Given the description of an element on the screen output the (x, y) to click on. 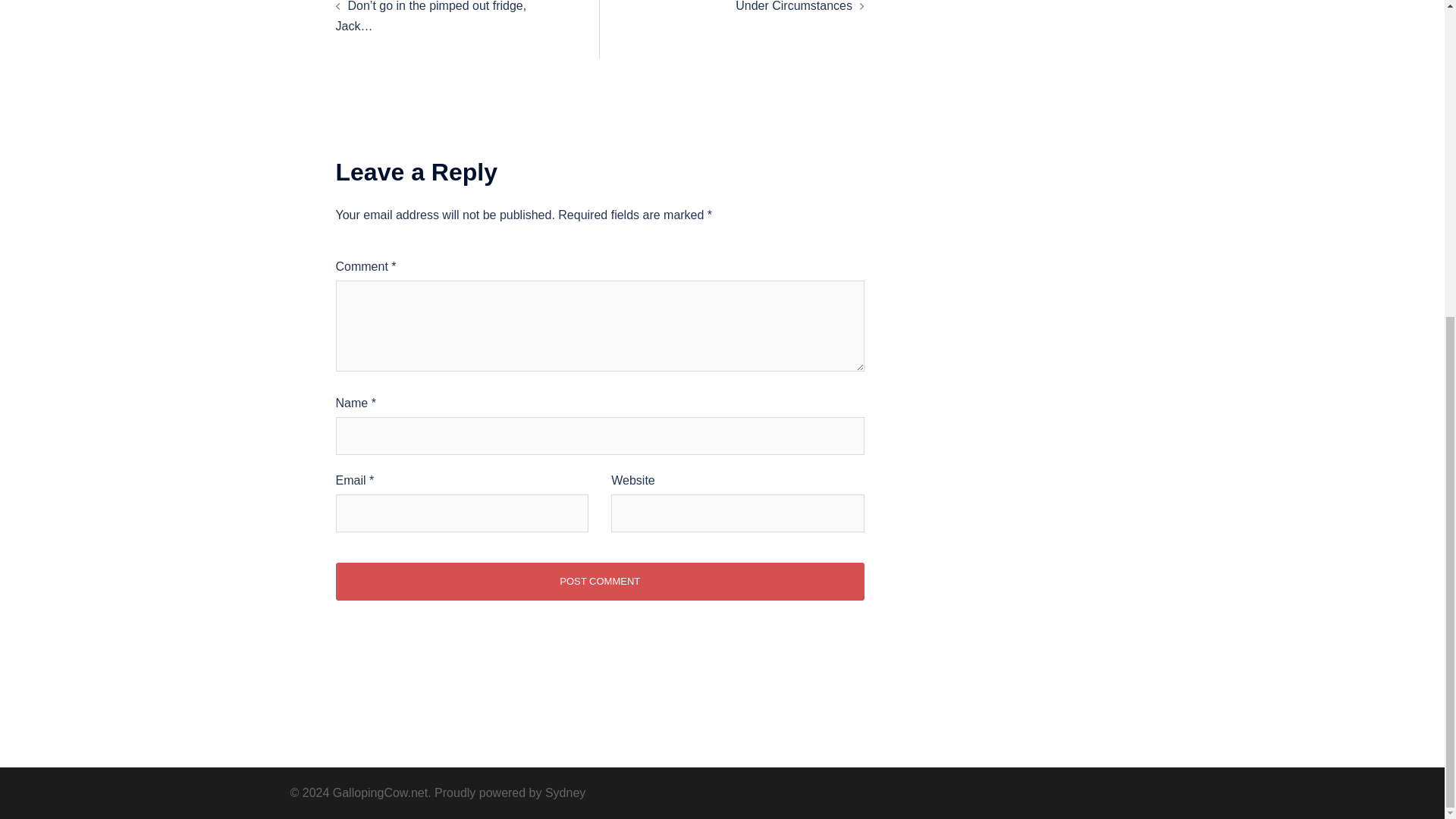
Sydney (564, 792)
Post Comment (599, 581)
Under Circumstances (793, 6)
Post Comment (599, 581)
